Given the description of an element on the screen output the (x, y) to click on. 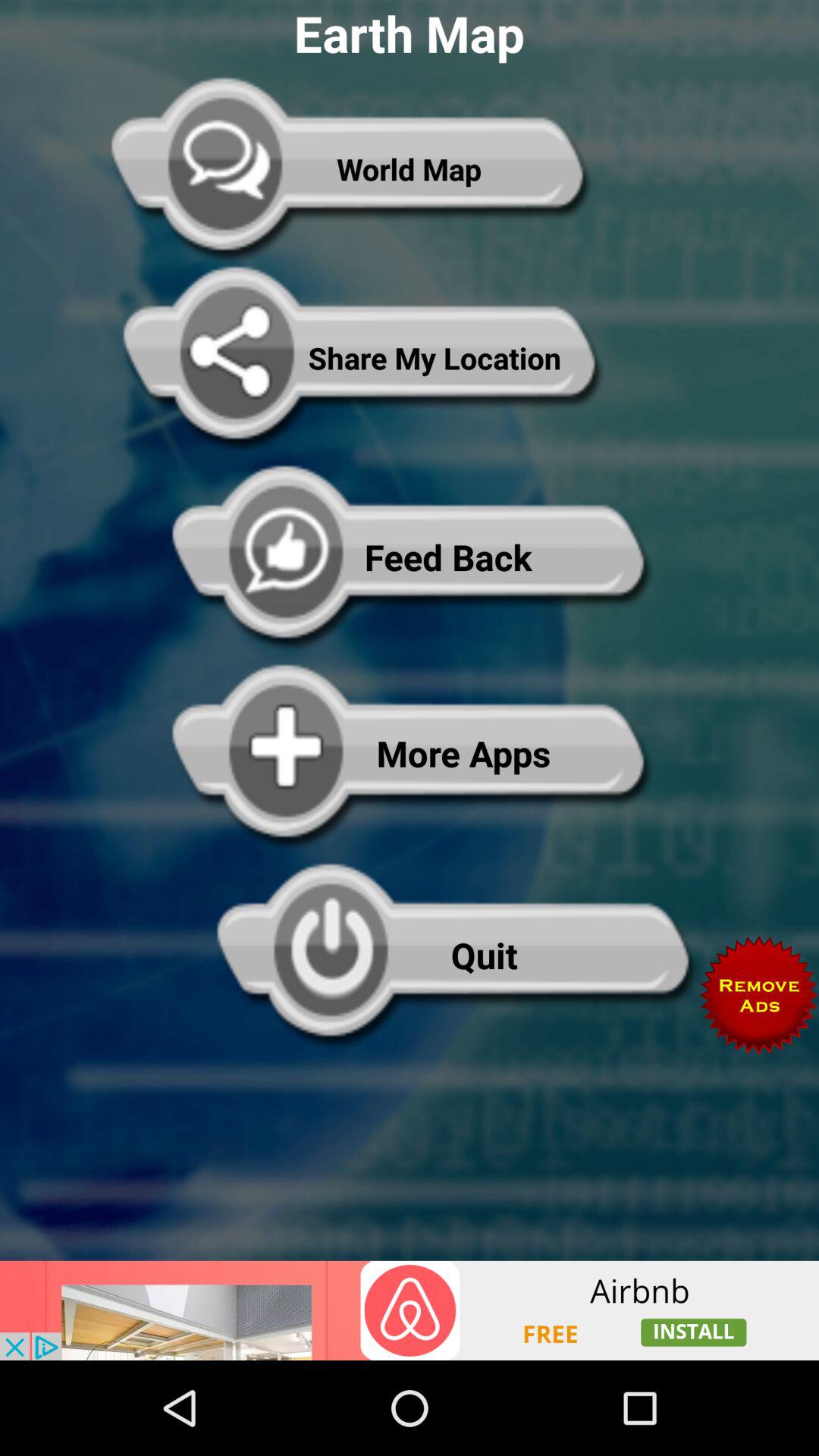
go to advertisement page (409, 1310)
